Given the description of an element on the screen output the (x, y) to click on. 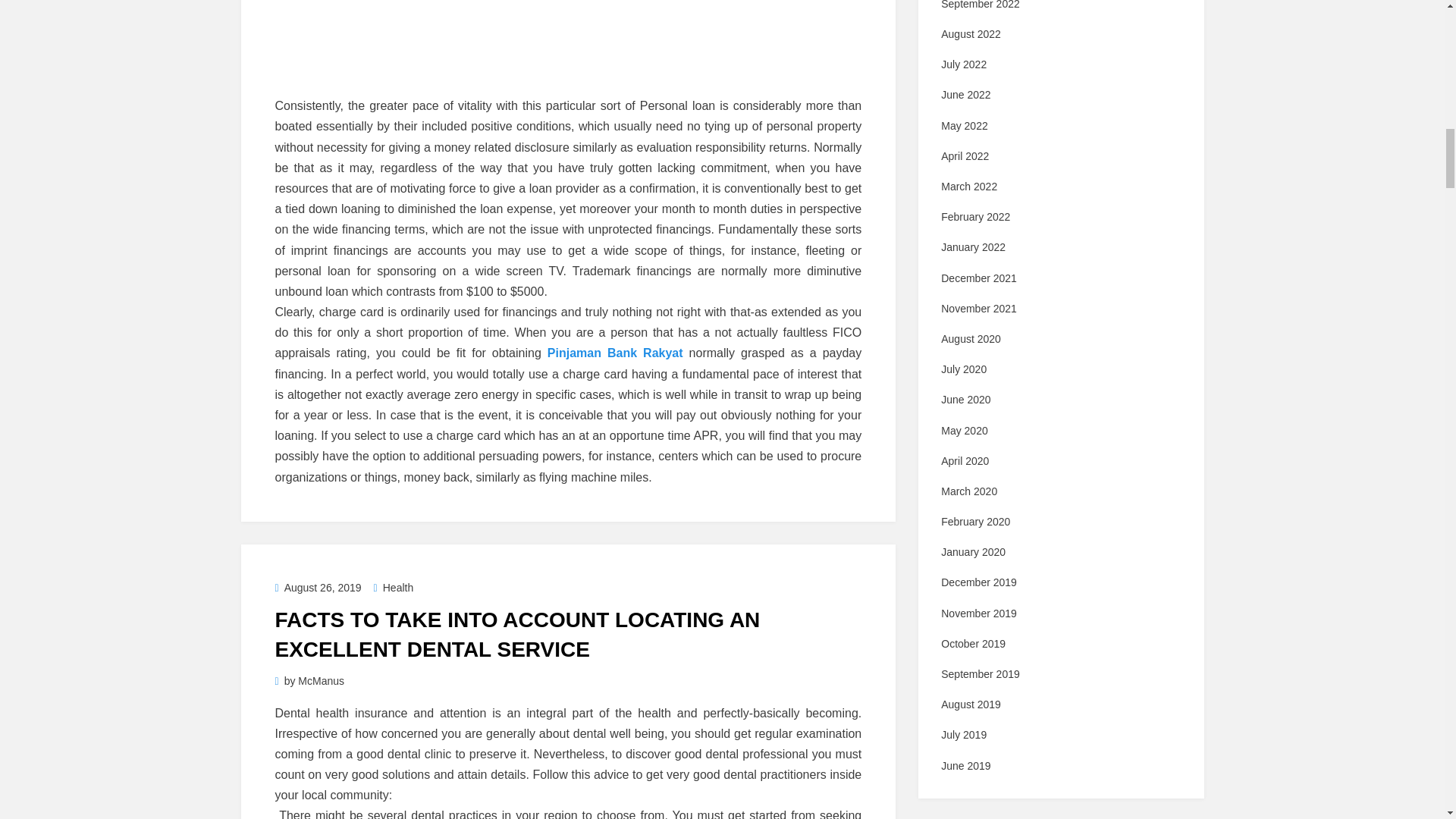
Pinjaman Bank Rakyat (614, 352)
Health (393, 587)
McManus (320, 680)
August 26, 2019 (318, 587)
Health (393, 587)
